Given the description of an element on the screen output the (x, y) to click on. 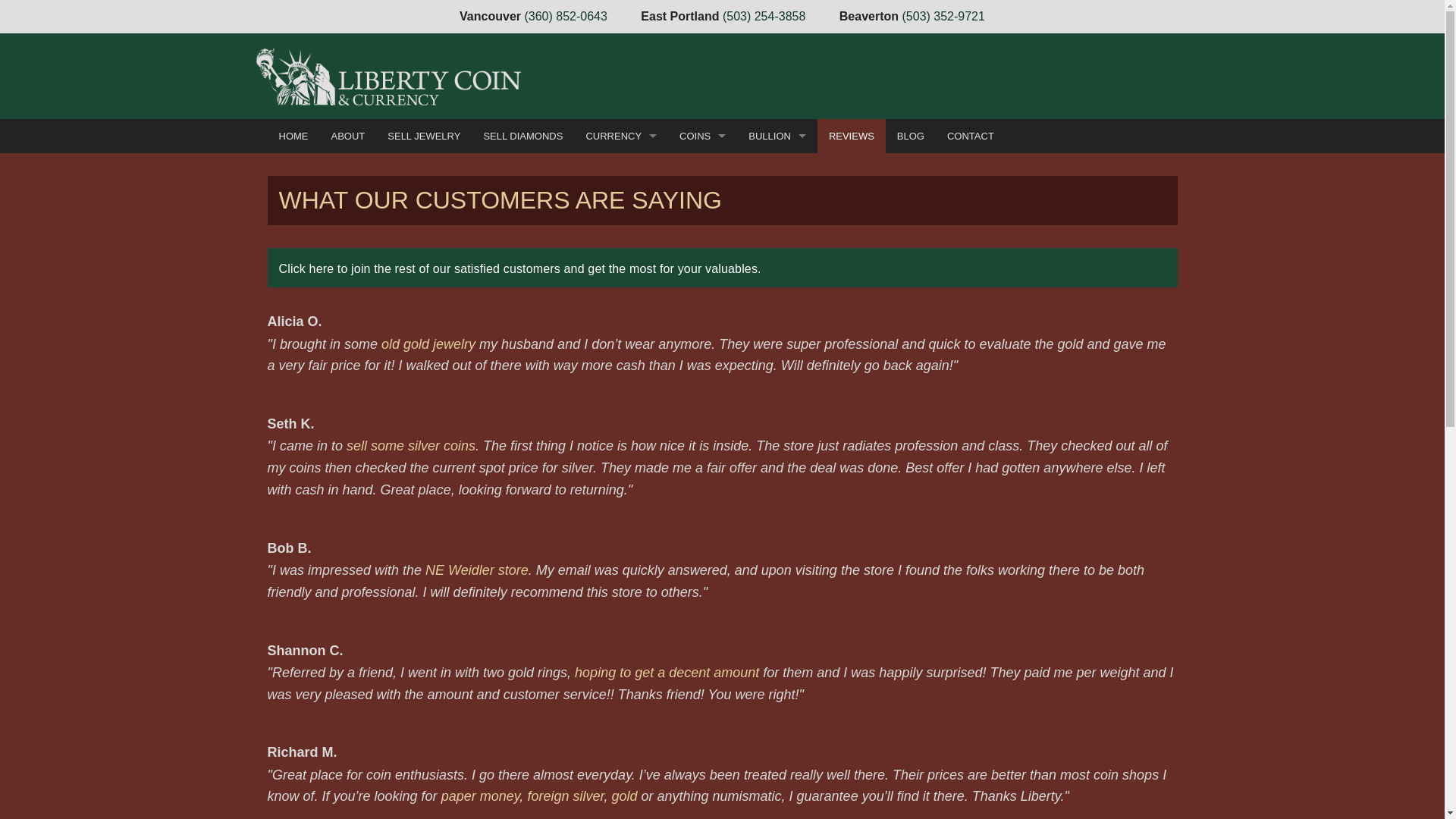
FRACTIONAL CURRENCY (620, 227)
FEDERAL RESERVE NOTES (620, 312)
CURRENCY (620, 135)
ABOUT (348, 135)
SELL DIAMONDS (522, 135)
NICKELS (702, 248)
FOREIGN CURRENCY (620, 418)
UNCUT SHEETS (620, 396)
CONFEDERATE CURRENCY (620, 206)
COINS (702, 135)
